Given the description of an element on the screen output the (x, y) to click on. 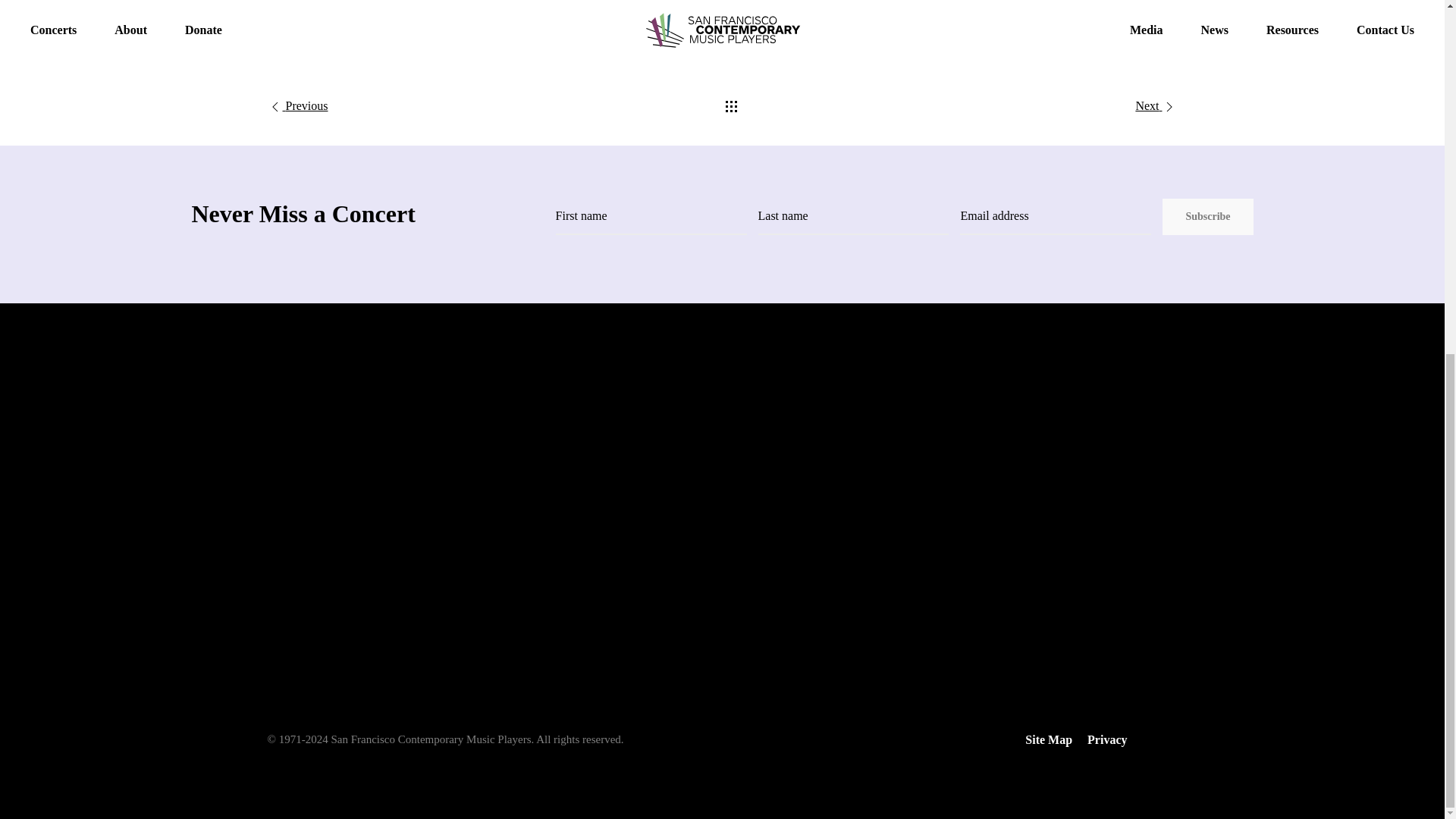
Subscribe (1206, 216)
